Given the description of an element on the screen output the (x, y) to click on. 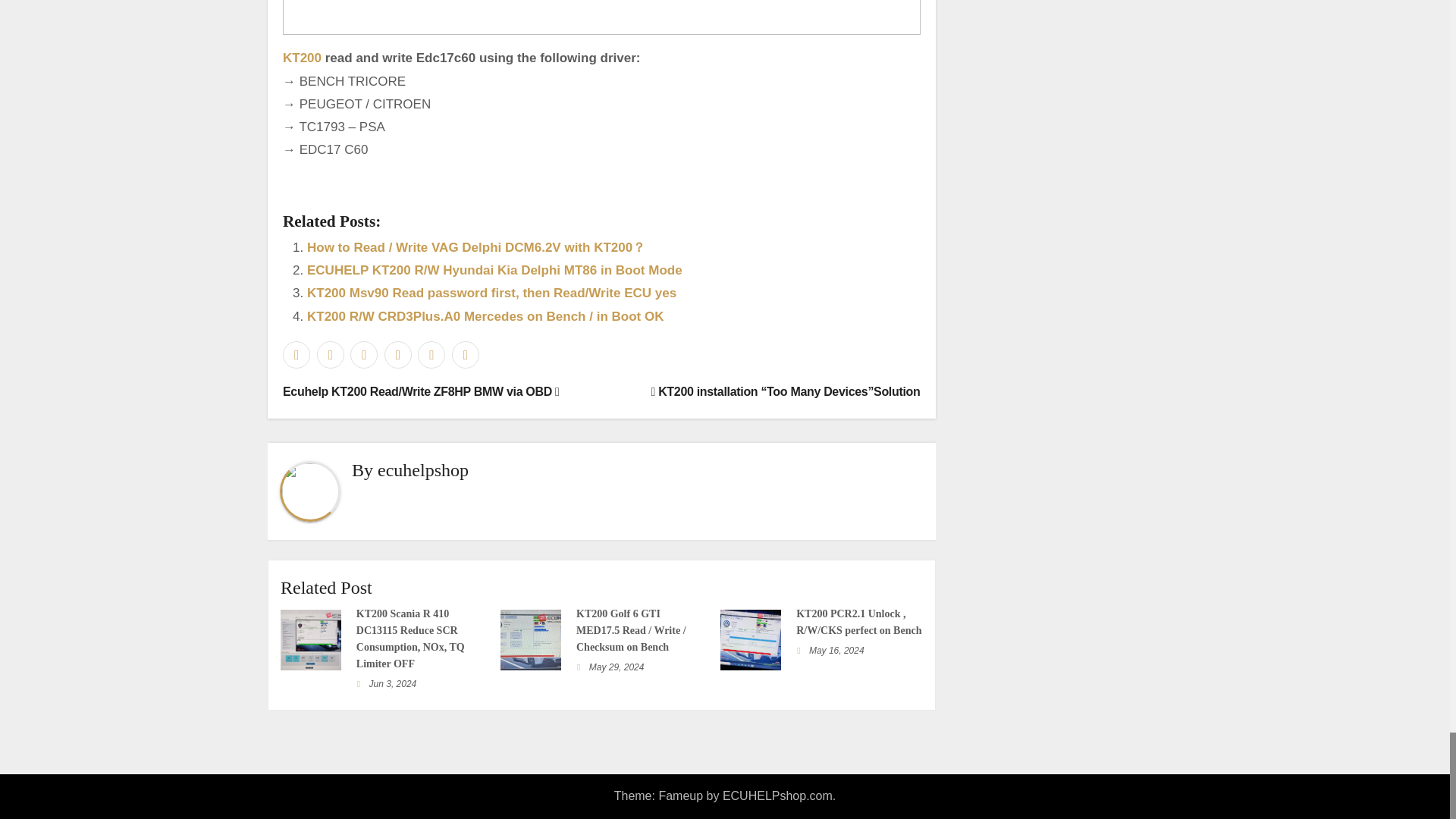
KT200 (301, 57)
ecuhelpshop (422, 469)
